Given the description of an element on the screen output the (x, y) to click on. 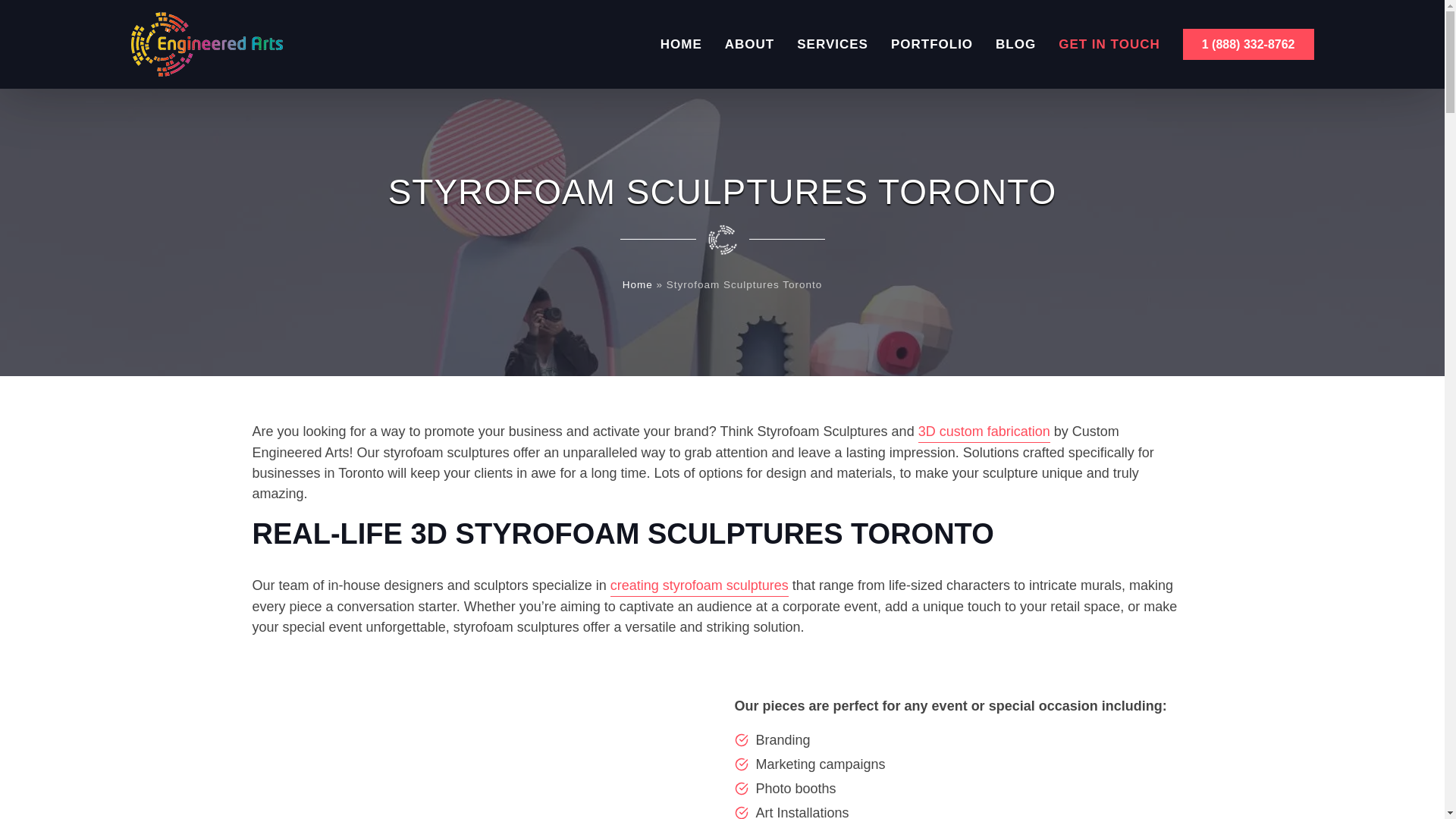
3D custom fabrication (983, 432)
SERVICES (831, 44)
Home (637, 284)
GET IN TOUCH (1109, 44)
Custom Engineered Arts (206, 43)
PORTFOLIO (931, 44)
creating styrofoam sculptures (699, 586)
HOME (681, 44)
BLOG (1015, 44)
ABOUT (749, 44)
